Given the description of an element on the screen output the (x, y) to click on. 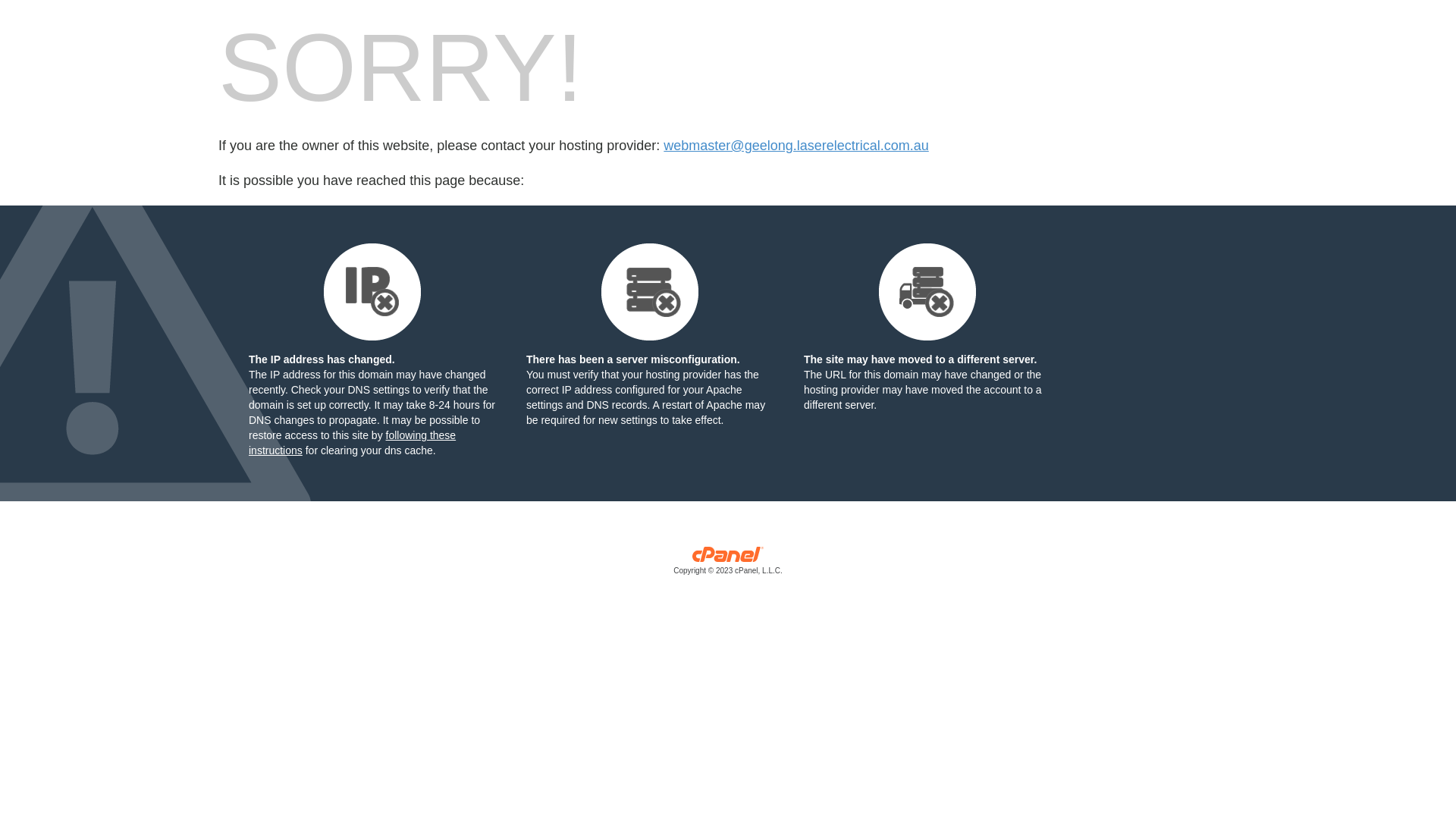
following these instructions Element type: text (351, 442)
webmaster@geelong.laserelectrical.com.au Element type: text (795, 145)
